Given the description of an element on the screen output the (x, y) to click on. 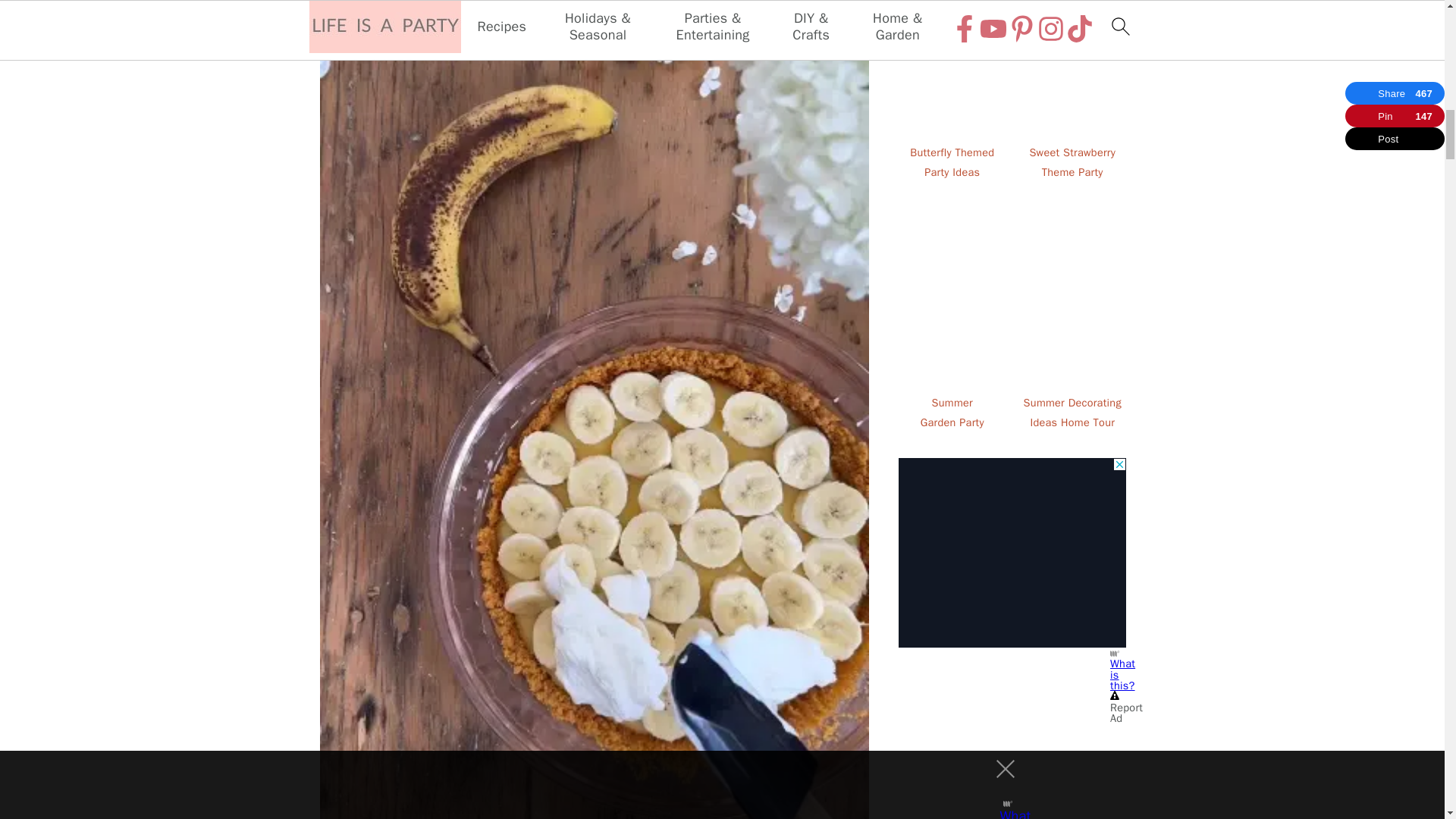
3rd party ad content (1011, 552)
